Given the description of an element on the screen output the (x, y) to click on. 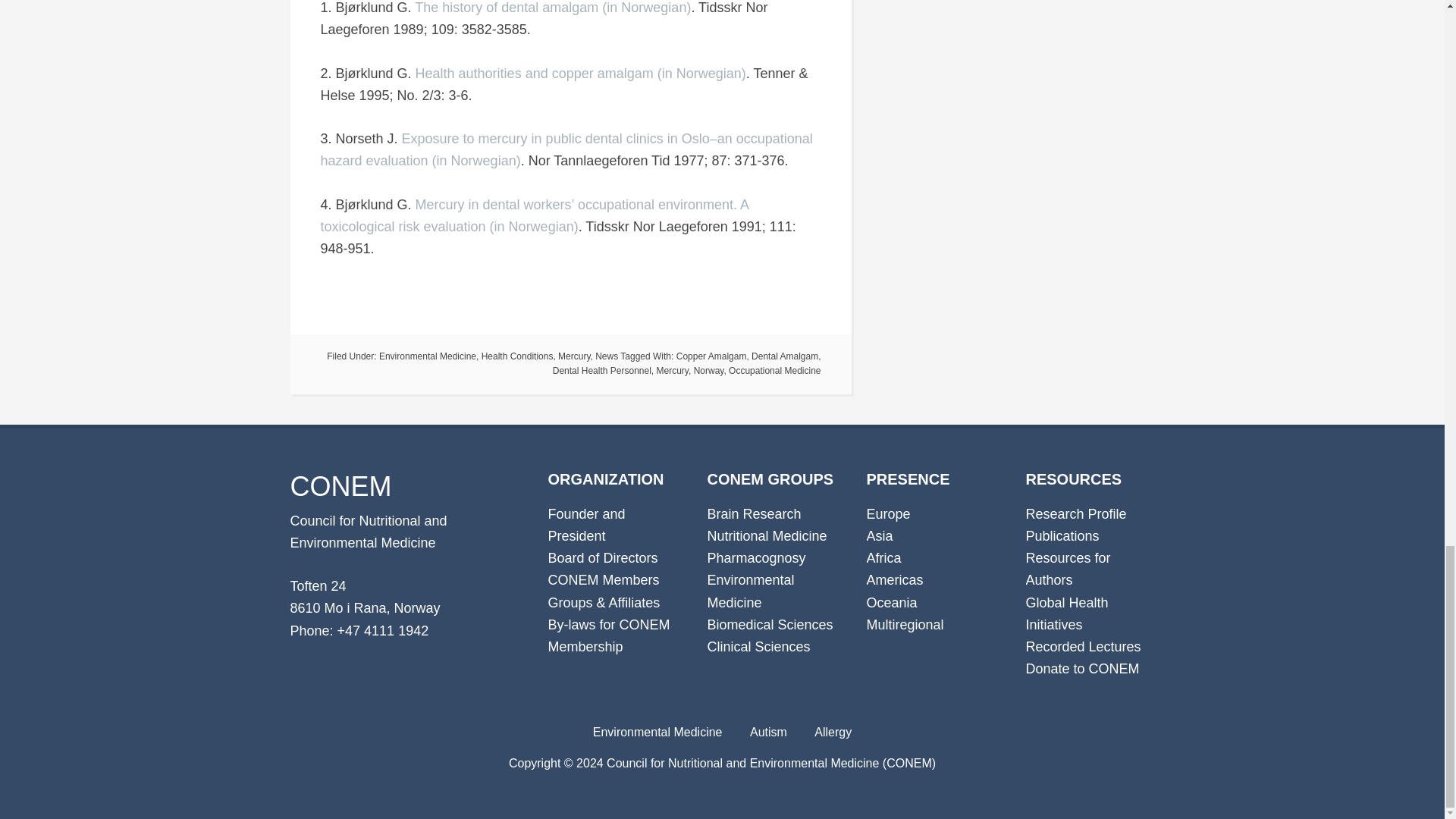
Dental Health Personnel (601, 370)
Occupational Medicine (775, 370)
Dental Amalgam (784, 356)
News (606, 356)
Copper Amalgam (711, 356)
Norway (708, 370)
Mercury (672, 370)
Environmental Medicine (427, 356)
Health Conditions (517, 356)
Mercury (573, 356)
